Given the description of an element on the screen output the (x, y) to click on. 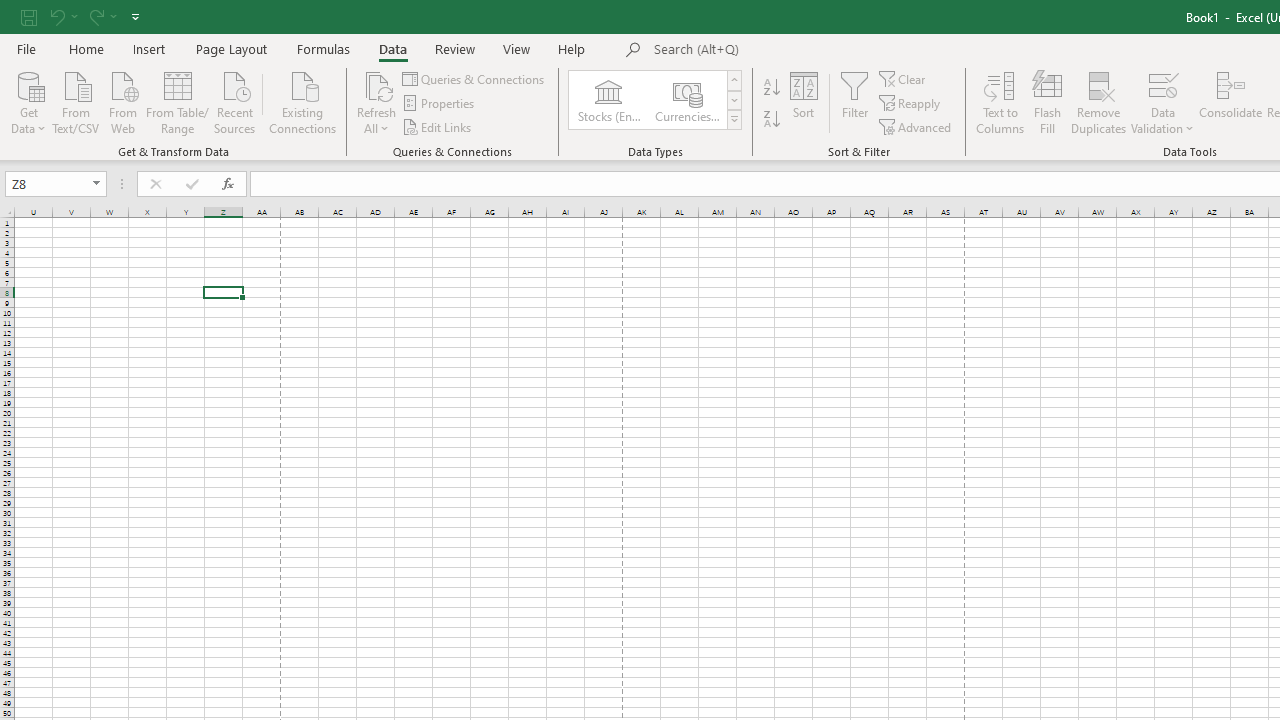
Filter (854, 102)
From Table/Range (177, 101)
Data Types (734, 120)
From Text/CSV (75, 101)
Consolidate... (1230, 102)
Sort... (804, 102)
